Given the description of an element on the screen output the (x, y) to click on. 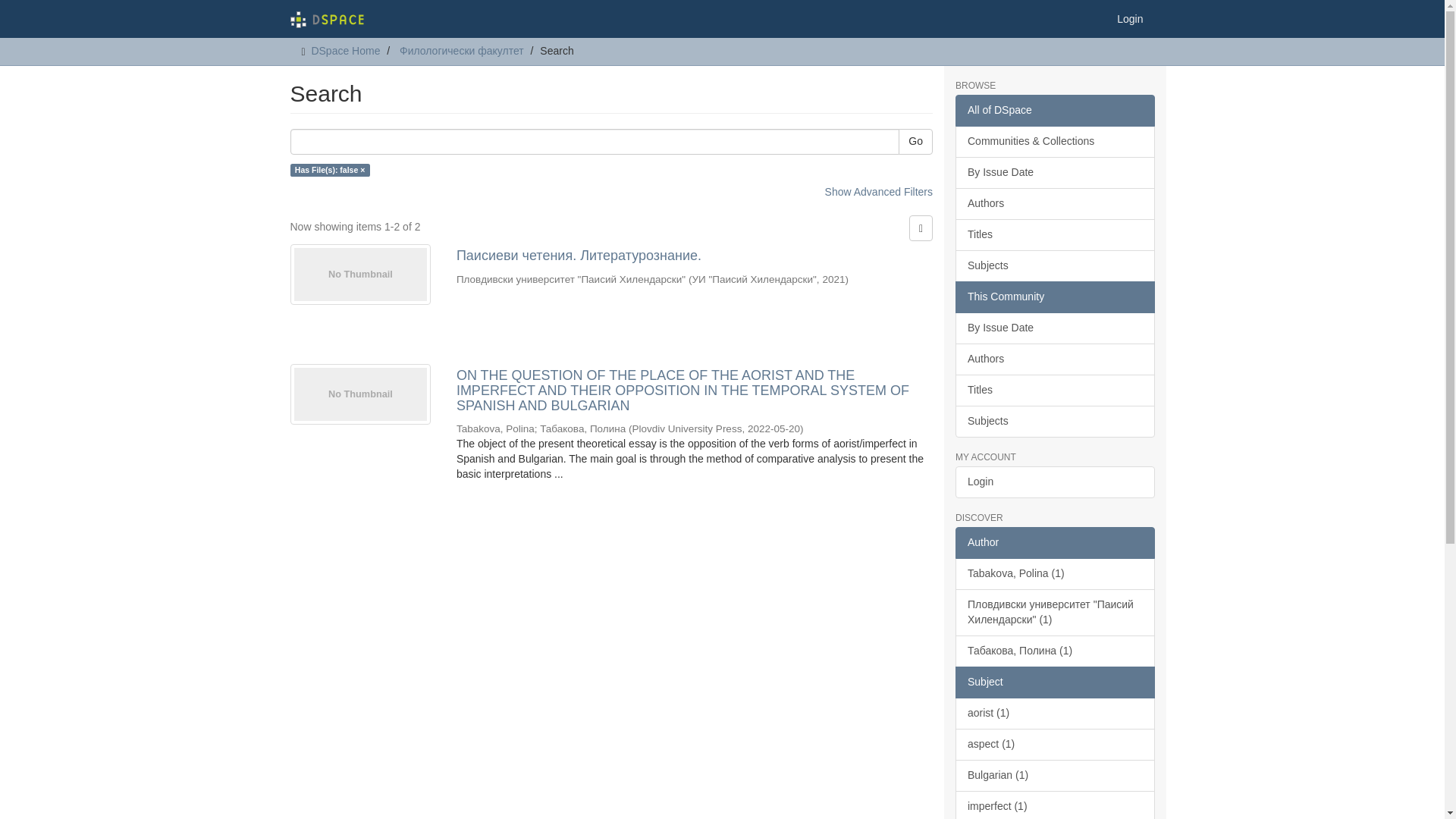
Go (915, 141)
Login (1129, 18)
Show Advanced Filters (879, 191)
DSpace Home (345, 50)
